Given the description of an element on the screen output the (x, y) to click on. 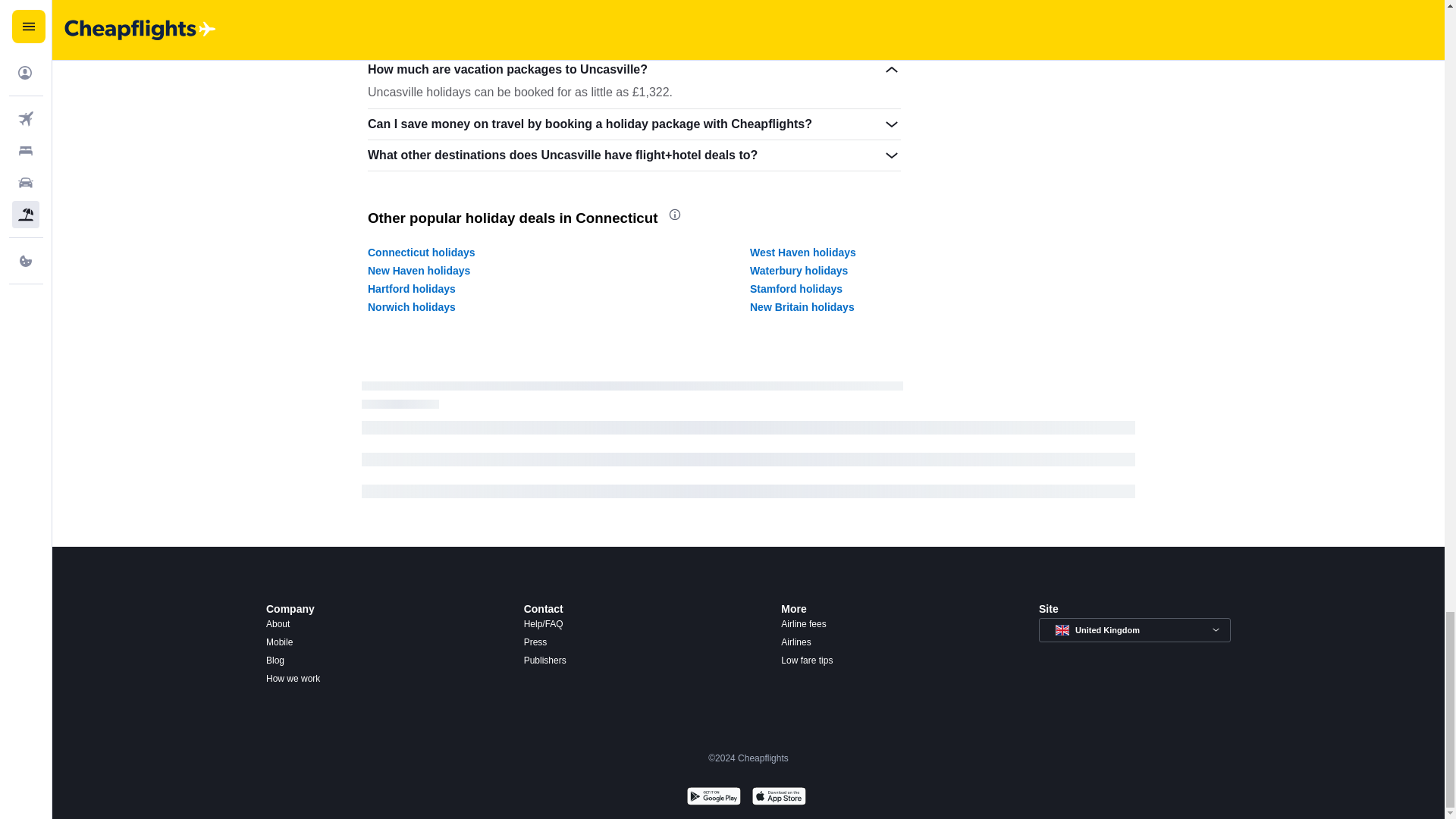
Download on the App Store (778, 797)
West Haven holidays (802, 252)
New Britain holidays (801, 306)
Stamford holidays (796, 288)
Get it on Google Play (713, 797)
Norwich holidays (411, 306)
Waterbury holidays (798, 270)
Hartford holidays (411, 288)
Connecticut holidays (422, 252)
New Haven holidays (419, 270)
